Given the description of an element on the screen output the (x, y) to click on. 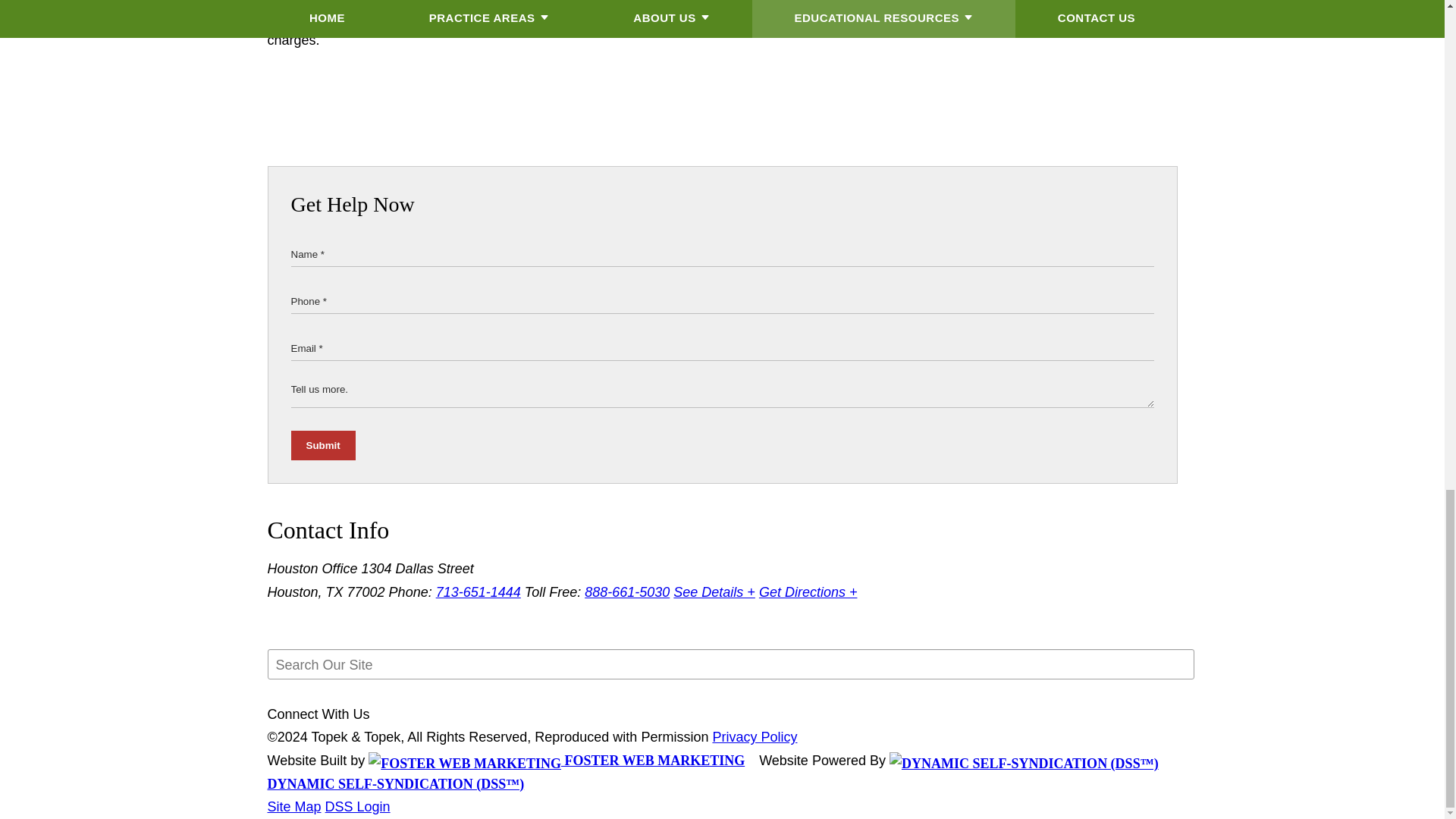
FOSTER WEB MARKETING (556, 760)
888-661-5030 (627, 591)
713-651-1444 (478, 591)
Privacy Policy (753, 736)
DSS Login (357, 806)
Site Map (293, 806)
Submit (323, 445)
